Given the description of an element on the screen output the (x, y) to click on. 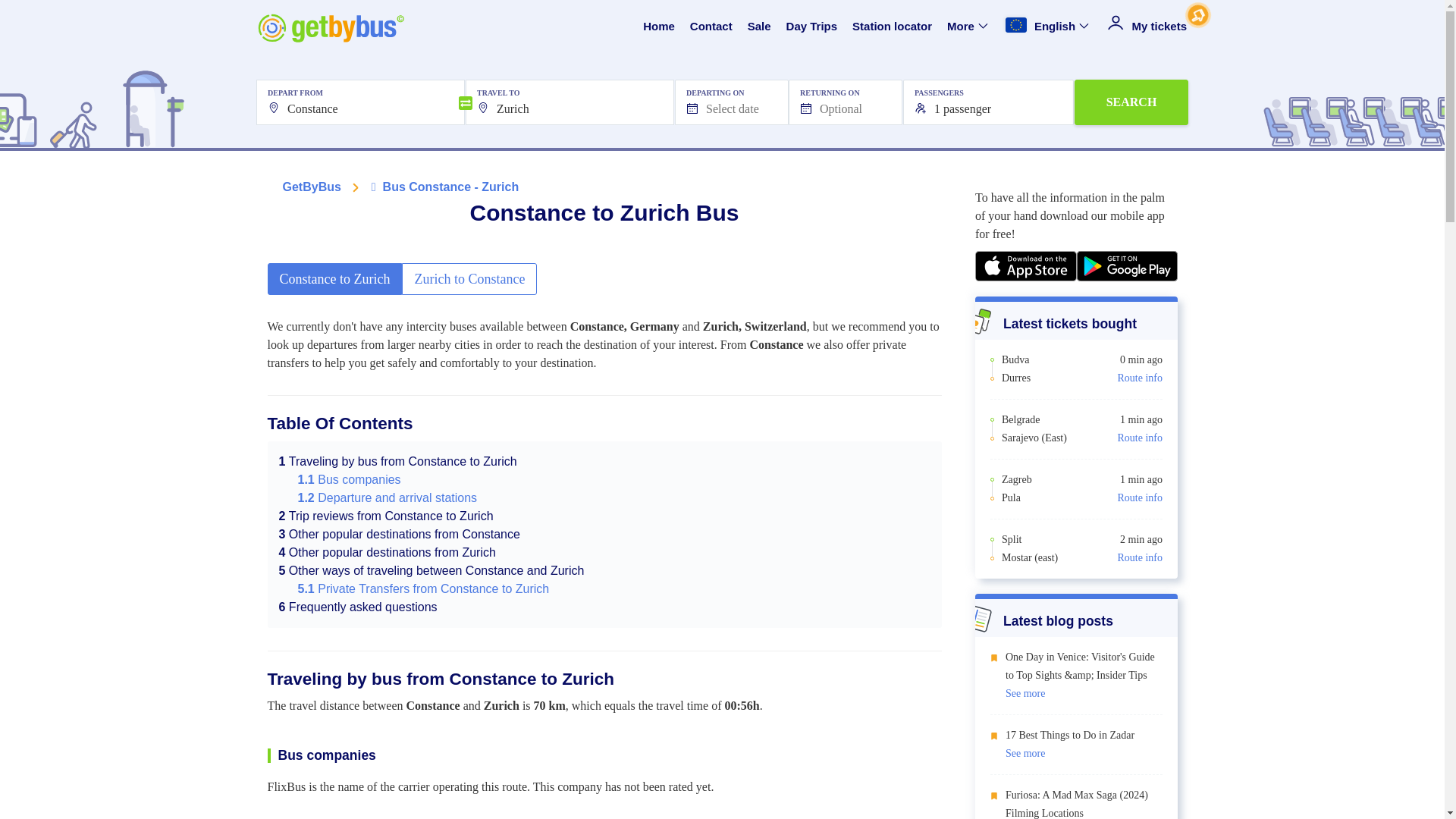
Other ways of traveling between Constance and Zurich (432, 570)
Private Transfers from Constance to Zurich (422, 588)
Traveling by bus from Constance to Zurich (397, 461)
Sale (759, 26)
Contact (711, 26)
 GetByBus (311, 186)
English (1048, 26)
Bus companies (348, 479)
Frequently asked questions (358, 606)
Other popular destinations from Constance (399, 533)
1 passenger (988, 102)
Departure and arrival stations (387, 497)
Day Trips (812, 26)
Station locator (891, 26)
